Given the description of an element on the screen output the (x, y) to click on. 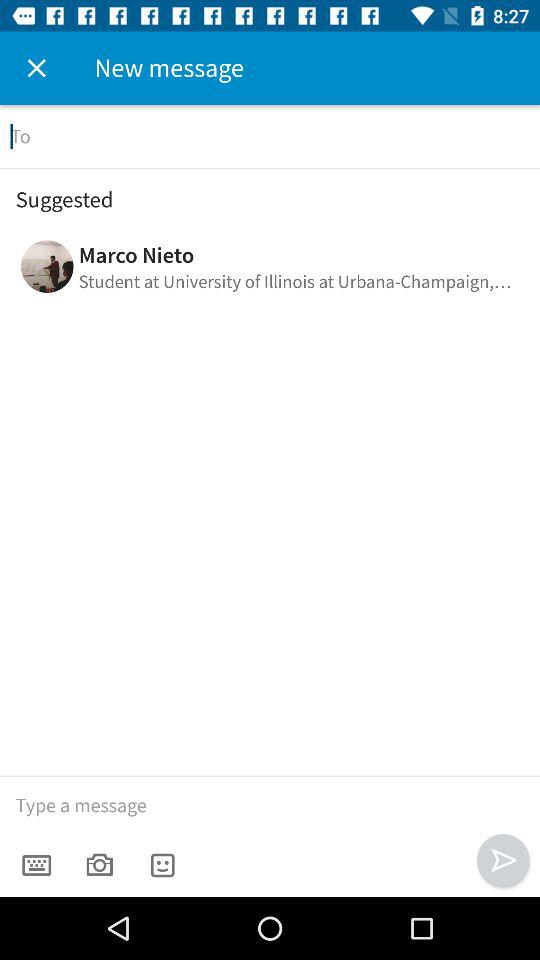
tap the icon at the bottom right corner (502, 859)
